Given the description of an element on the screen output the (x, y) to click on. 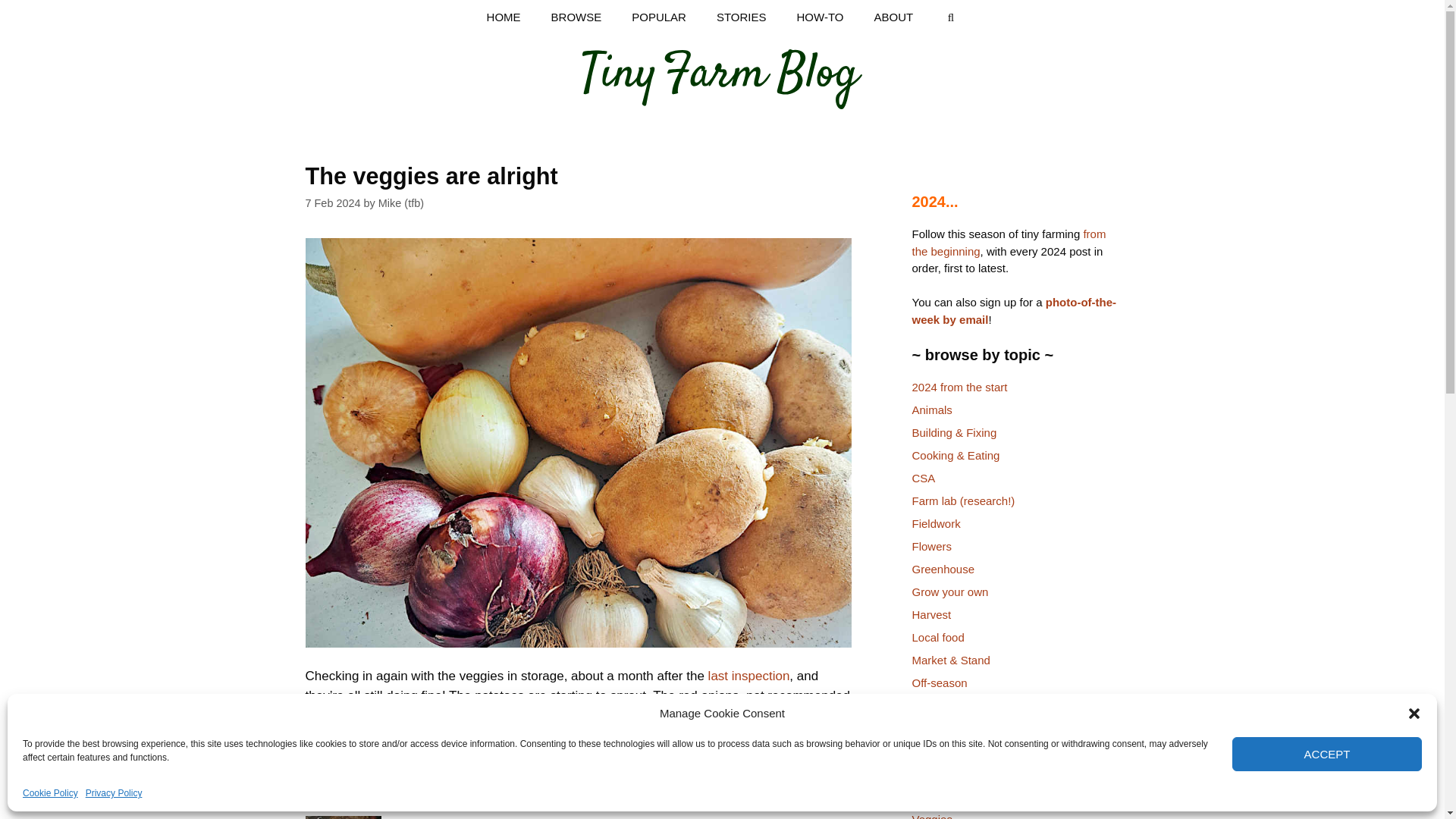
POPULAR (658, 17)
last inspection (748, 676)
Privacy Policy (113, 793)
HOW-TO (820, 17)
STORIES (741, 17)
Cookie Policy (50, 793)
ABOUT (893, 17)
ACCEPT (1326, 754)
BROWSE (576, 17)
HOME (503, 17)
